Given the description of an element on the screen output the (x, y) to click on. 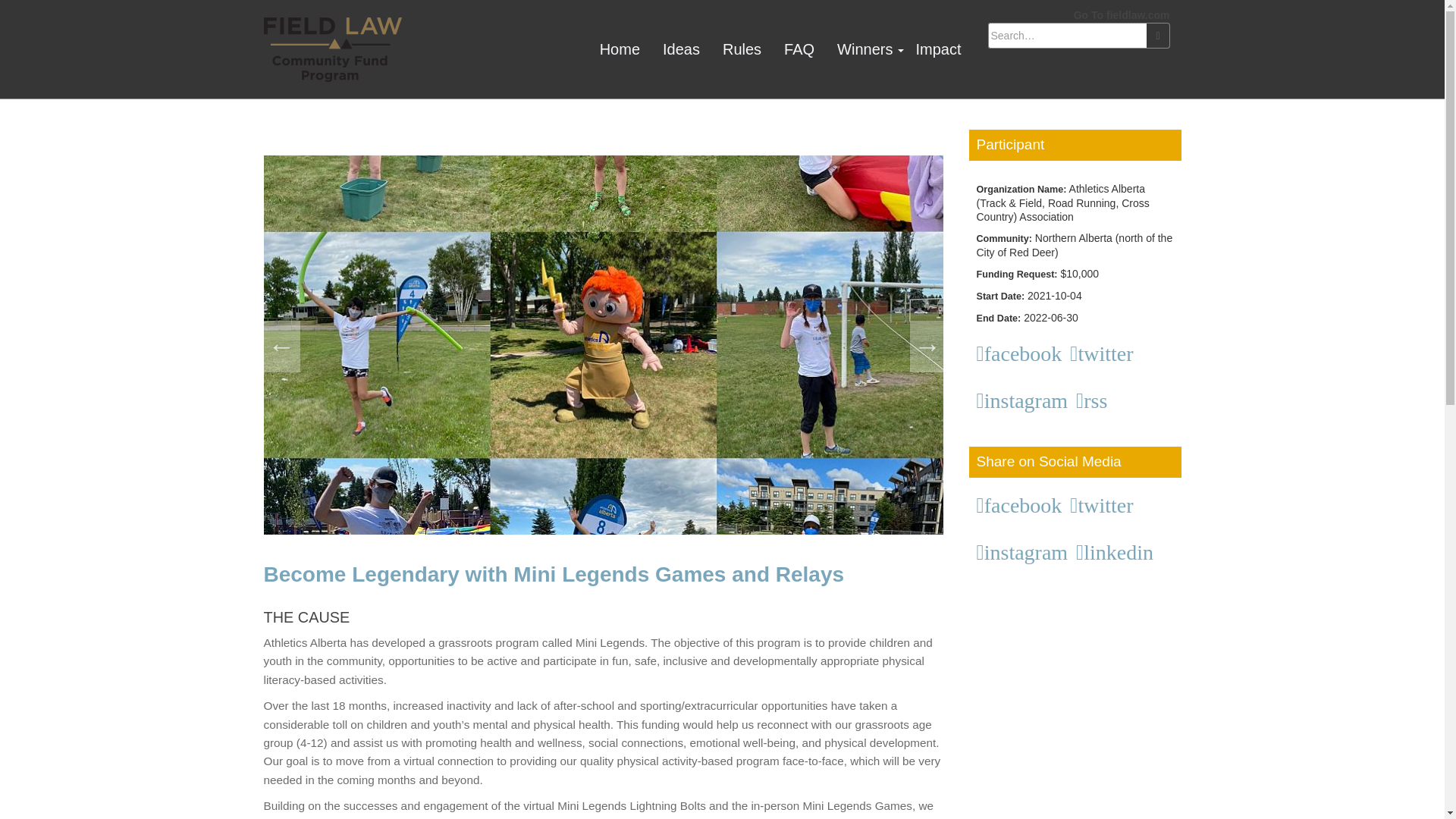
Winners (864, 49)
Rules (742, 49)
twitter (1104, 353)
linkedin (1116, 552)
twitter (1104, 505)
instagram (1025, 552)
Ideas (680, 49)
PREVIOUS (281, 346)
Go To fieldlaw.com (1122, 15)
FAQ (799, 49)
facebook (1021, 353)
Search (1158, 35)
instagram (1025, 400)
NEXT (928, 346)
Home (619, 49)
